Given the description of an element on the screen output the (x, y) to click on. 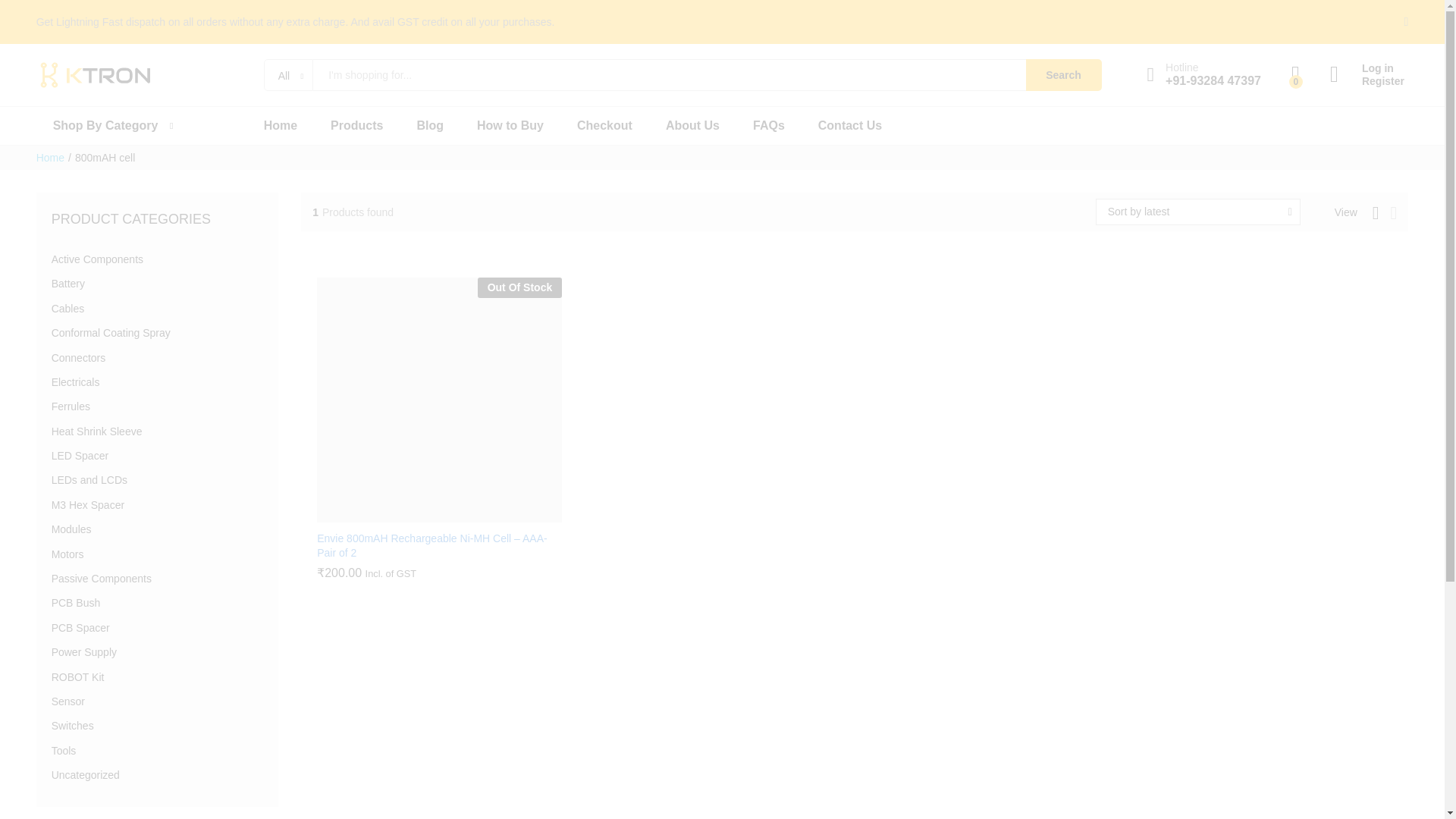
Blog (430, 125)
Contact Us (850, 125)
Checkout (603, 125)
Home (50, 157)
Products (356, 125)
How to Buy (510, 125)
FAQs (768, 125)
Search (1064, 74)
About Us (692, 125)
Register (1367, 81)
Home (280, 125)
Log in (1367, 68)
